Given the description of an element on the screen output the (x, y) to click on. 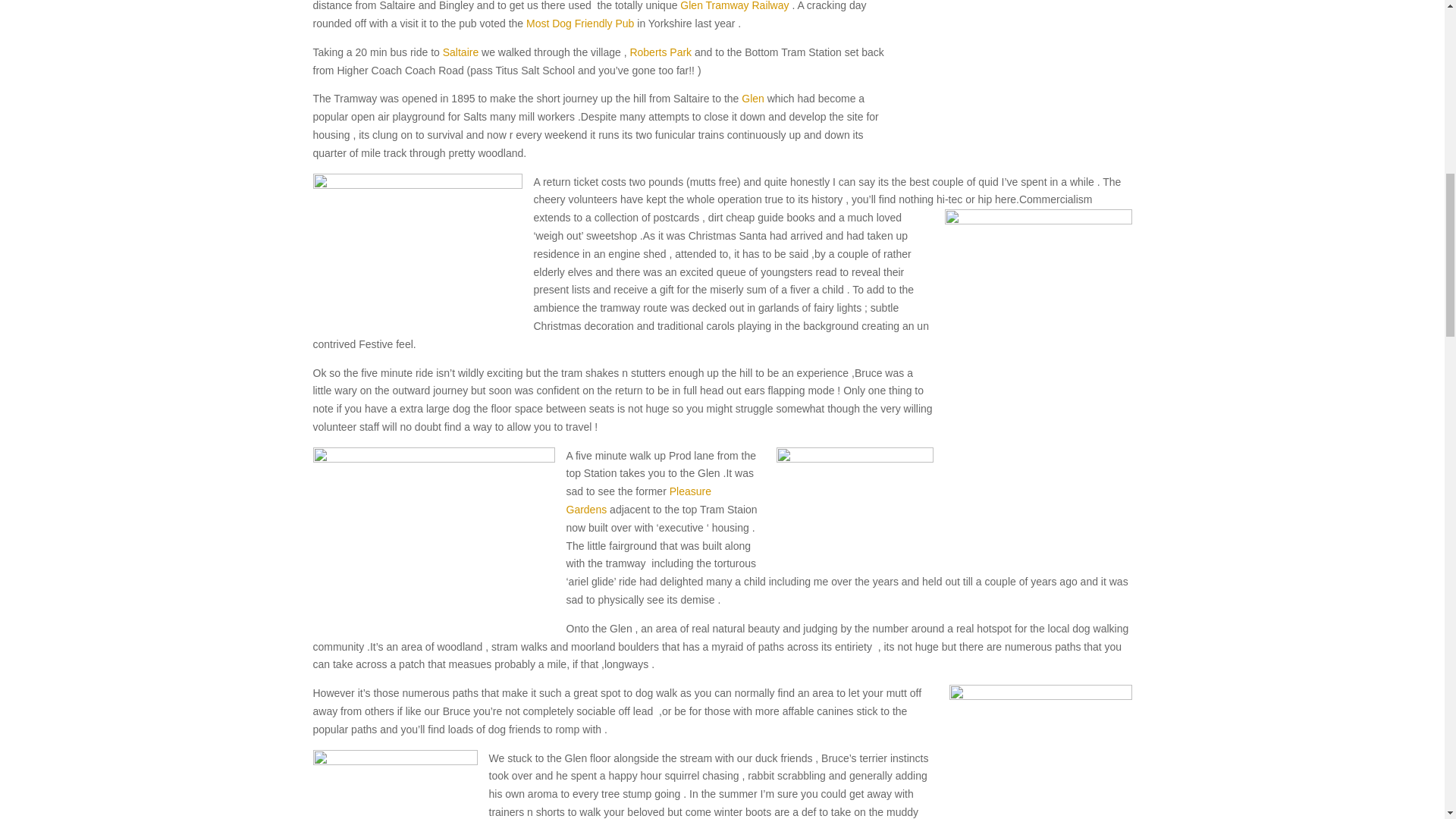
Saltaire (460, 51)
Most Dog Friendly Pub (579, 23)
Pleasure Gardens (638, 500)
Roberts Park (659, 51)
Glen Tramway Railway (734, 5)
Glen (752, 98)
